Given the description of an element on the screen output the (x, y) to click on. 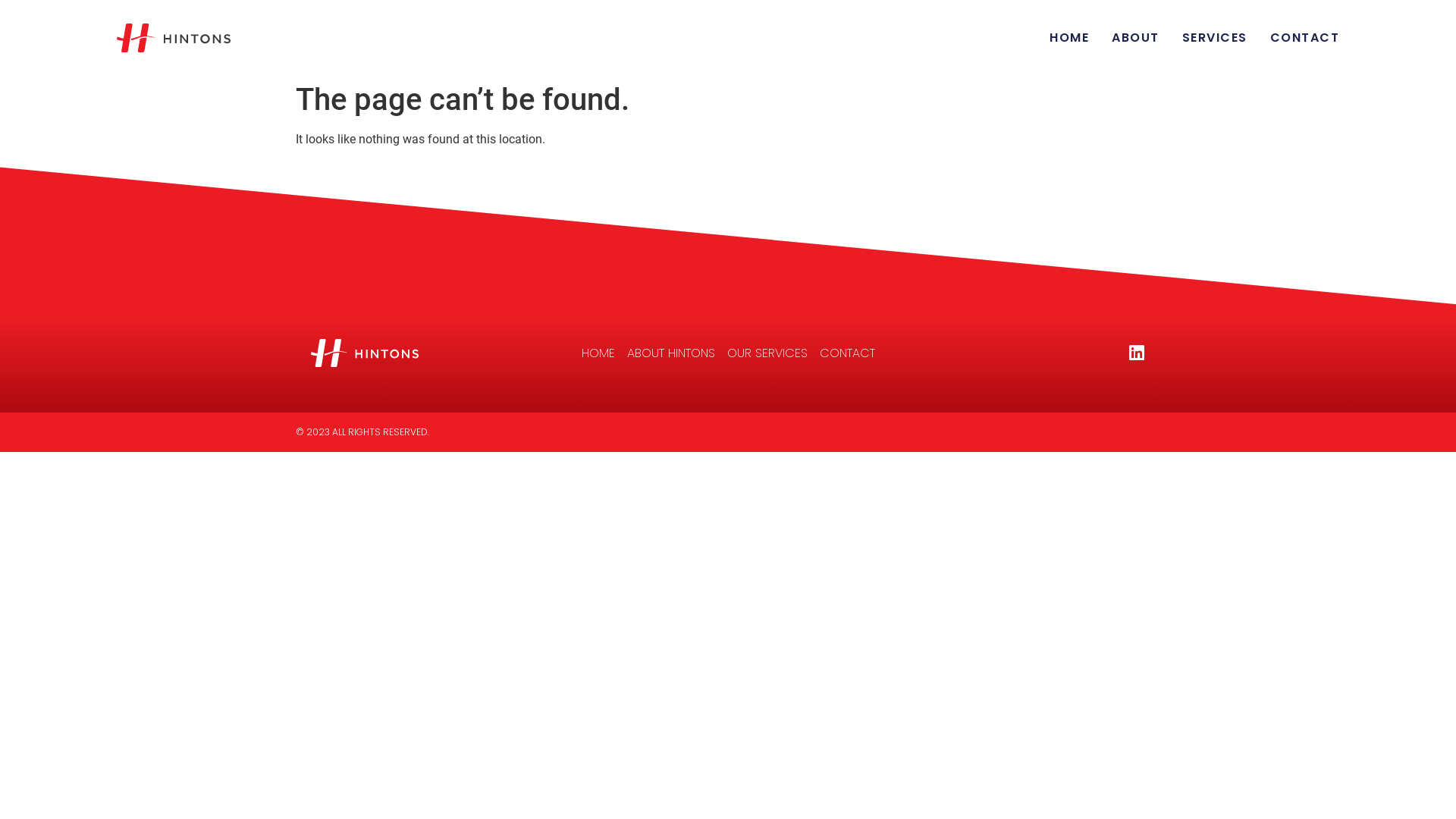
ABOUT HINTONS Element type: text (670, 353)
CONTACT Element type: text (846, 353)
HOME Element type: text (1068, 37)
OUR SERVICES Element type: text (766, 353)
HOME Element type: text (597, 353)
SERVICES Element type: text (1214, 37)
CONTACT Element type: text (1304, 37)
ABOUT Element type: text (1135, 37)
